Given the description of an element on the screen output the (x, y) to click on. 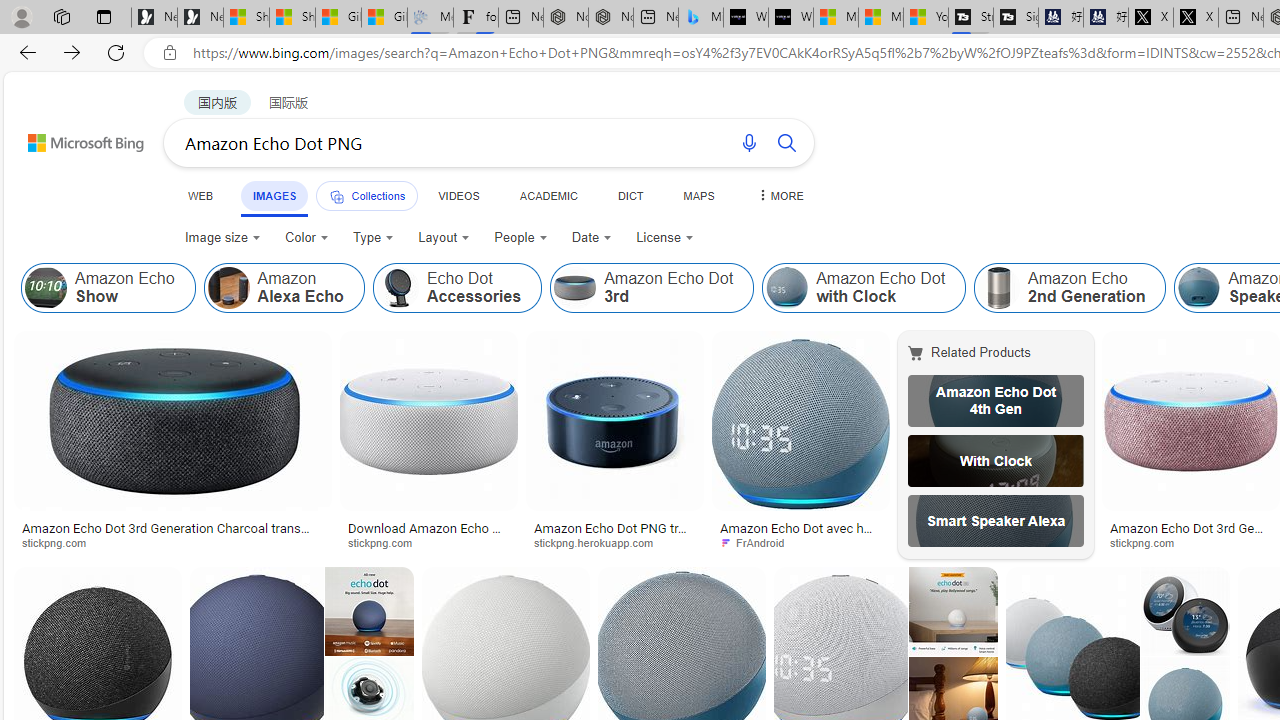
Echo Dot Accessories (397, 287)
Newsletter Sign Up (199, 17)
MAPS (698, 195)
Streaming Coverage | T3 (970, 17)
Type (372, 237)
ACADEMIC (548, 195)
Dropdown Menu (779, 195)
Back to Bing search (73, 138)
FrAndroid (758, 541)
IMAGES (274, 195)
